Given the description of an element on the screen output the (x, y) to click on. 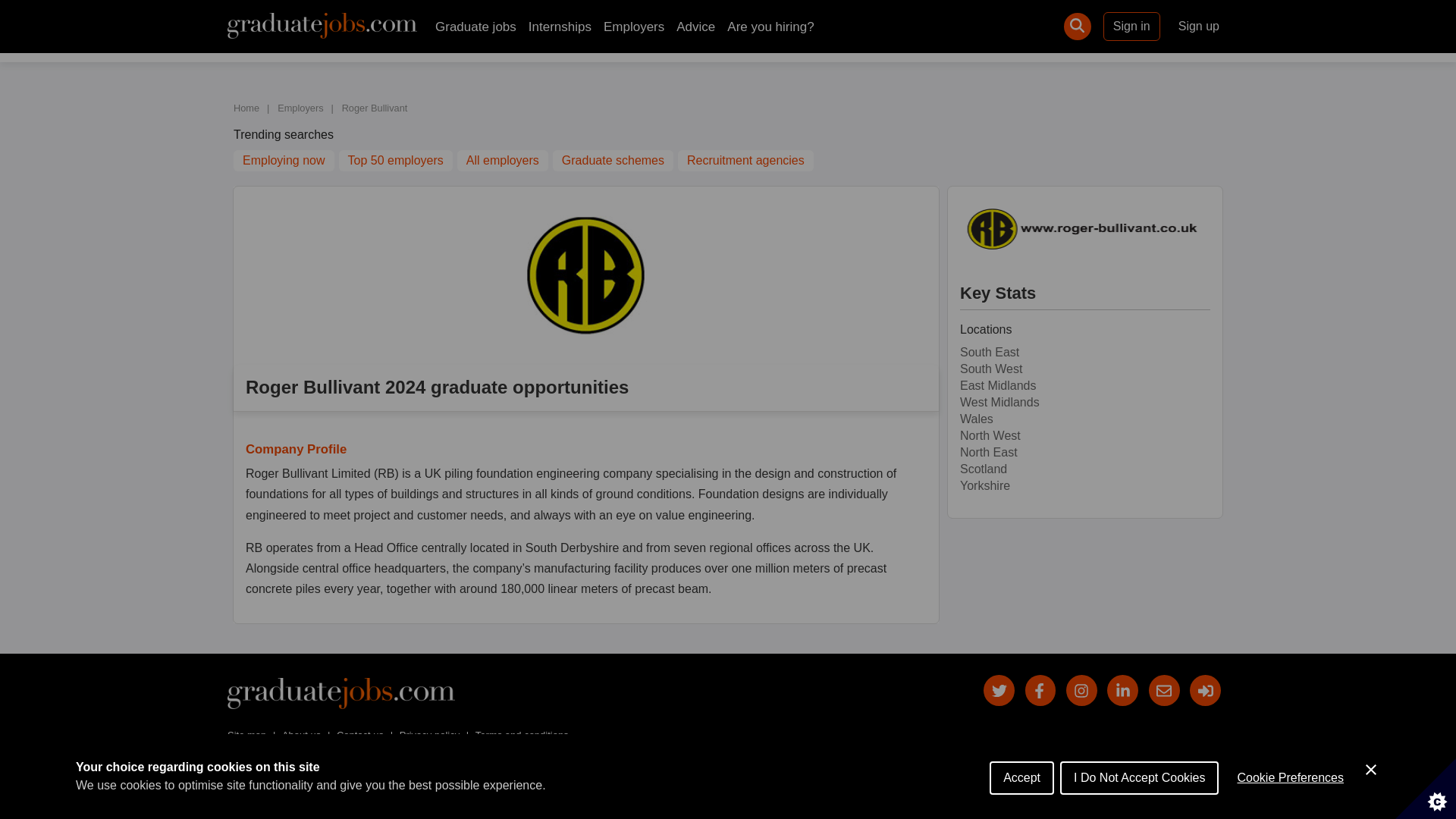
Sign up (1198, 26)
Graduate jobs (475, 26)
Employers (633, 26)
Are you hiring? (769, 26)
open search bar (1077, 26)
Advice (695, 26)
Internships (559, 26)
